Given the description of an element on the screen output the (x, y) to click on. 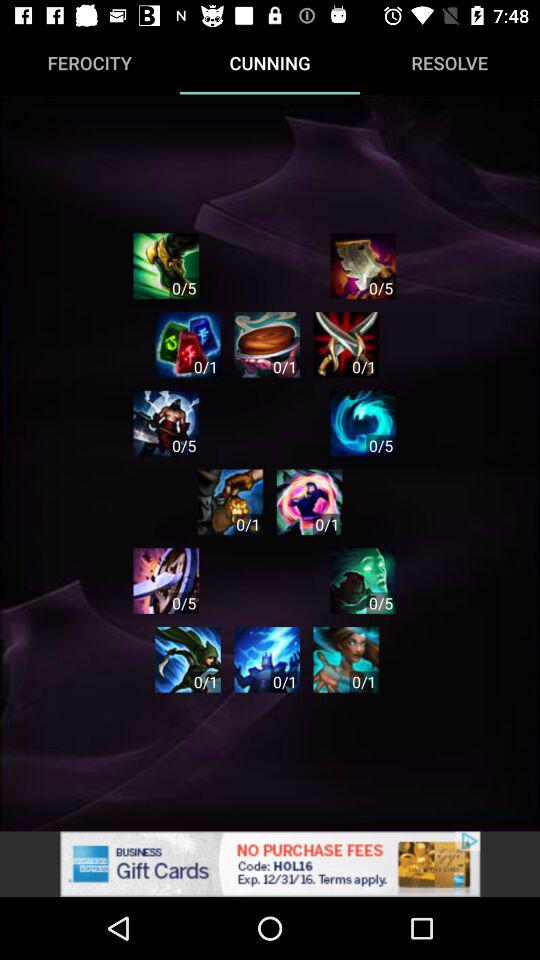
select game option (187, 344)
